Given the description of an element on the screen output the (x, y) to click on. 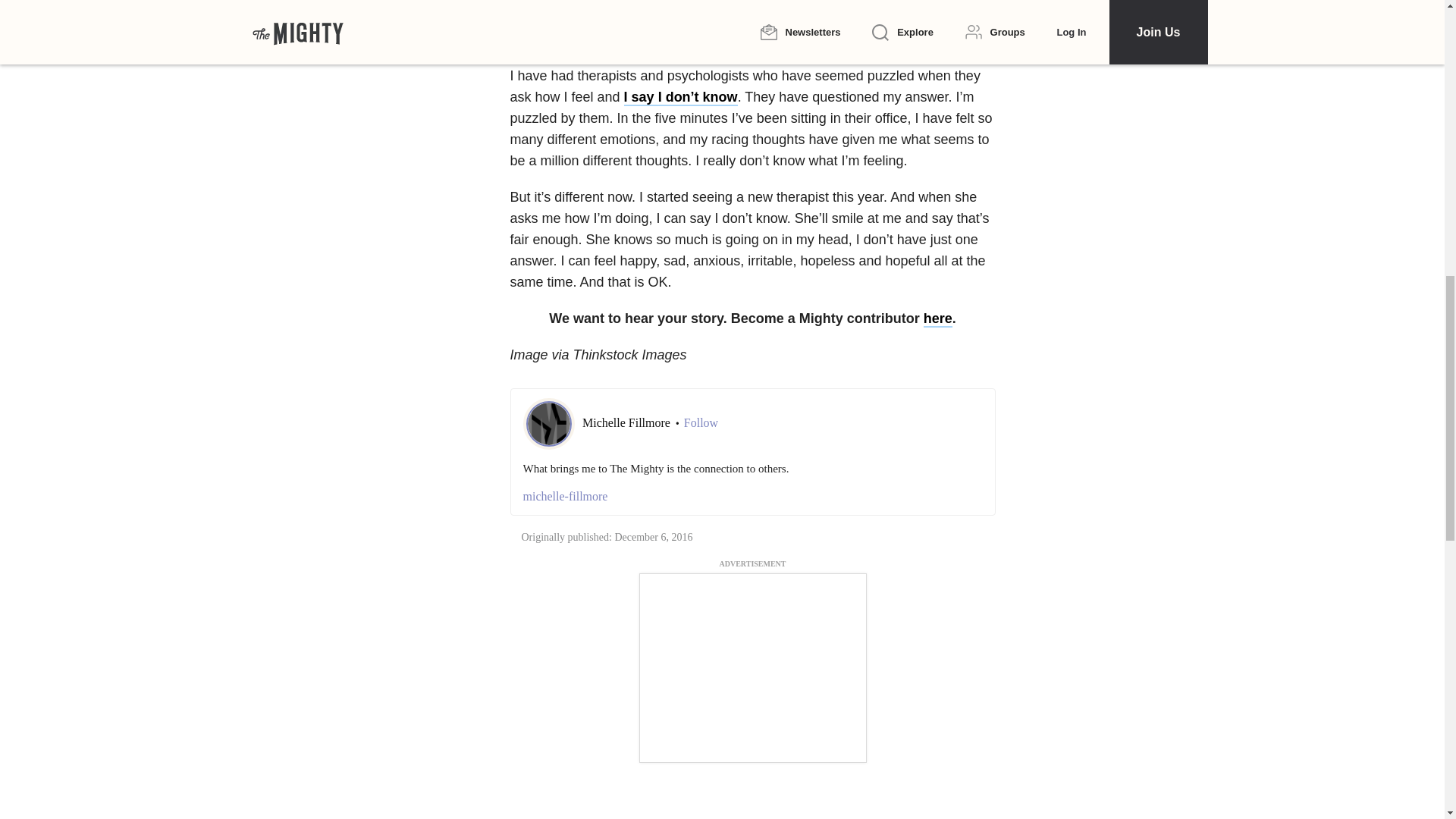
Michelle Fillmore (627, 422)
Follow (700, 422)
here (937, 319)
michelle-fillmore (752, 496)
